Given the description of an element on the screen output the (x, y) to click on. 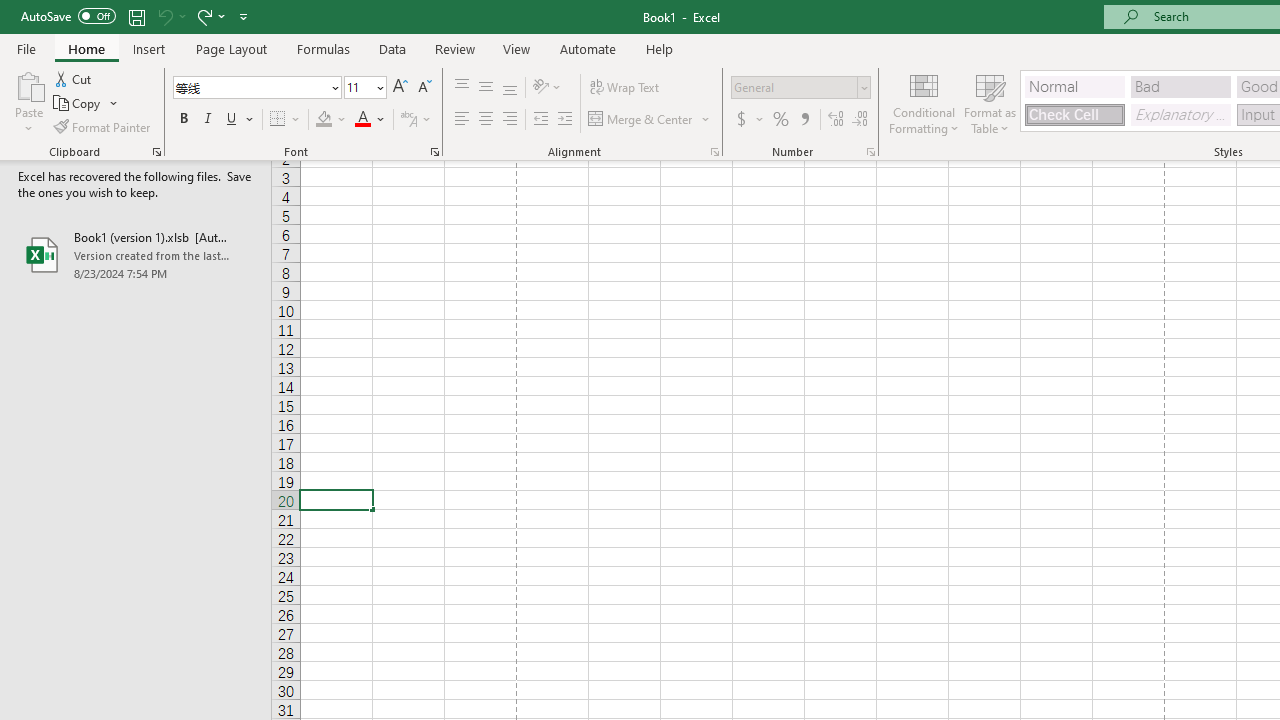
Undo (164, 15)
Data (392, 48)
View (517, 48)
AutoSave (68, 16)
Save (136, 15)
Home (86, 48)
Customize Quick Access Toolbar (244, 15)
Redo (209, 15)
